Given the description of an element on the screen output the (x, y) to click on. 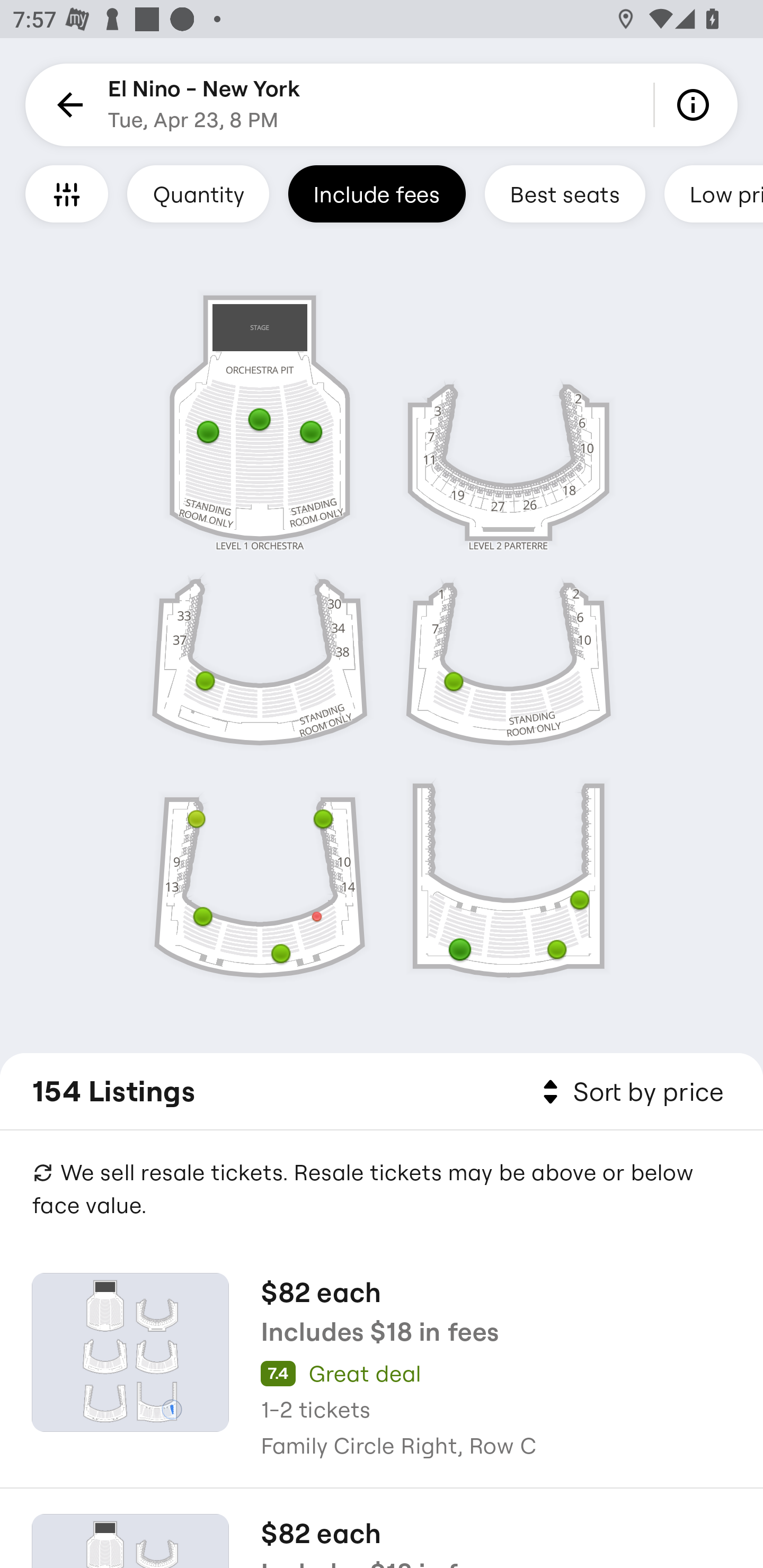
Back El Nino - New York Tue, Apr 23, 8 PM Info (381, 104)
Back (66, 104)
El Nino - New York Tue, Apr 23, 8 PM (204, 104)
Info (695, 104)
Filters and Accessible Seating (66, 193)
Quantity (198, 193)
Include fees (376, 193)
Best seats (564, 193)
Low prices (713, 193)
Sort by price (629, 1091)
